Given the description of an element on the screen output the (x, y) to click on. 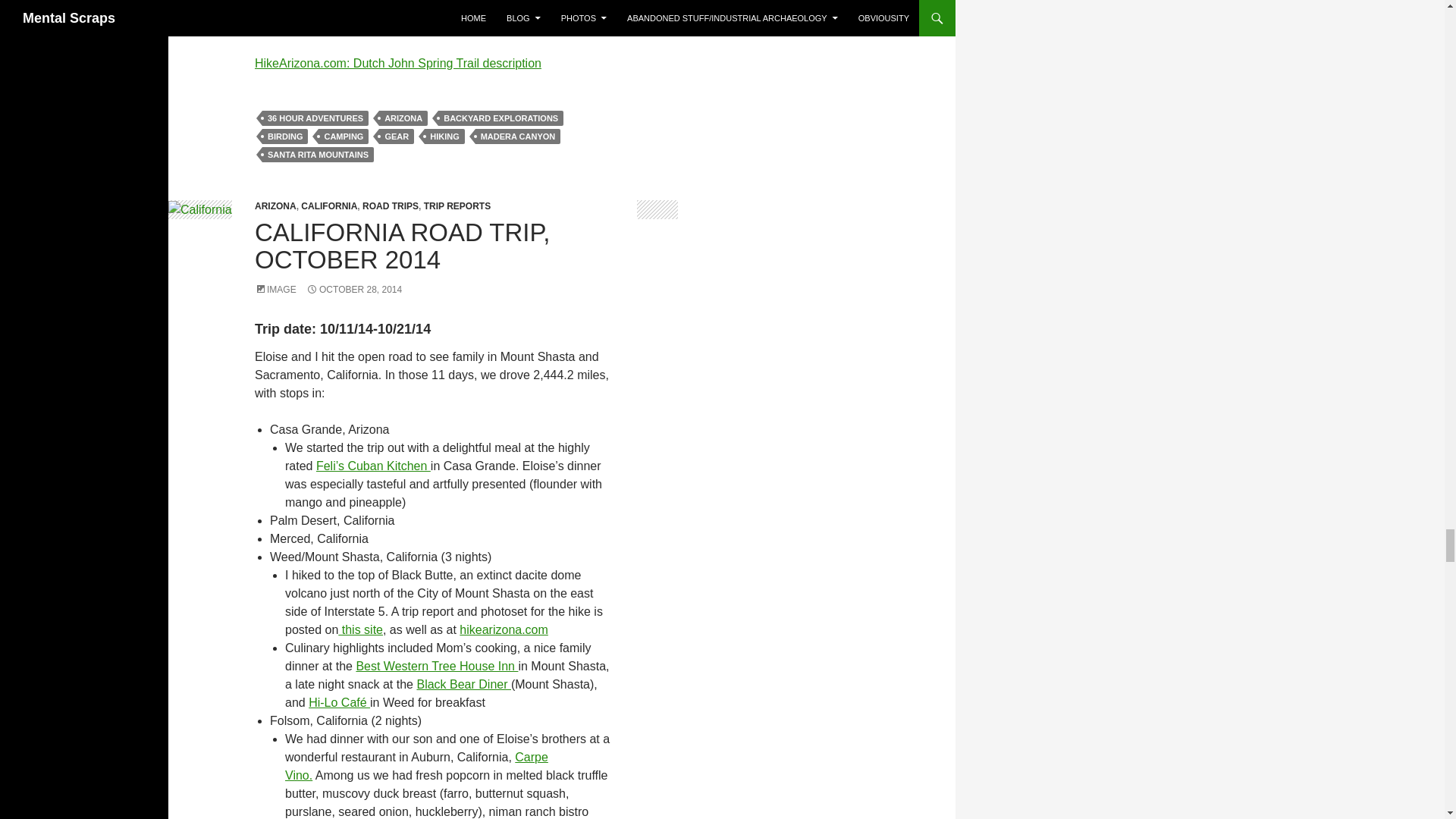
Black Butte trip report on HikeArizona.com (504, 629)
Best Western Tree House Inn Yelp page (436, 666)
Feli's Cuban Kitchen Yelp page (372, 465)
Hi-Lo Cafe Yelp page (338, 702)
Black Bear Diner (463, 684)
Black Butte trip report on Mental Scraps (359, 629)
Carpe Vino (416, 766)
